Given the description of an element on the screen output the (x, y) to click on. 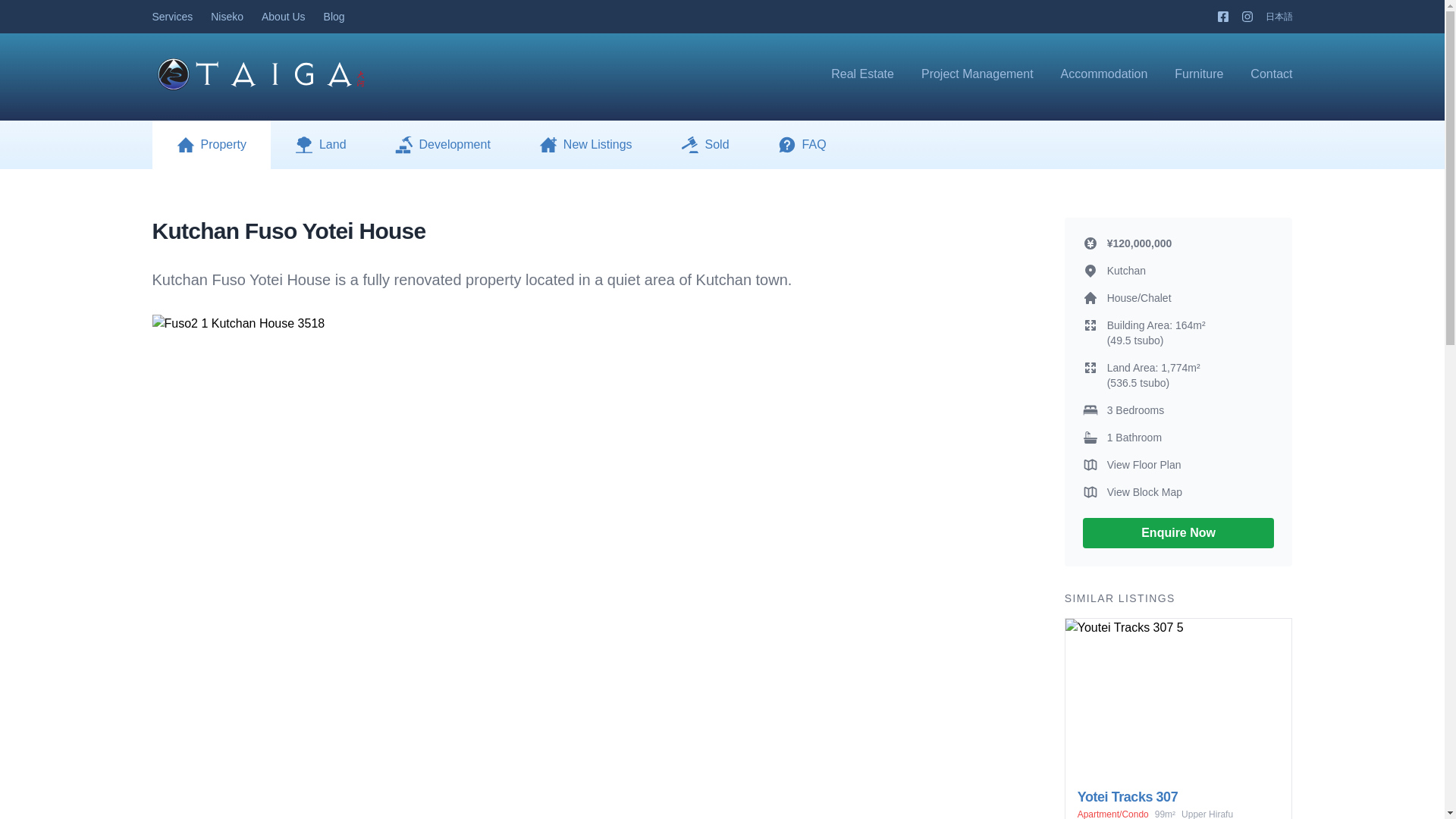
Niseko (227, 16)
About Us (283, 16)
Blog (334, 16)
Real Estate (862, 73)
Accommodation (1104, 73)
Services (171, 16)
Furniture (1198, 73)
Project Management (977, 73)
